Given the description of an element on the screen output the (x, y) to click on. 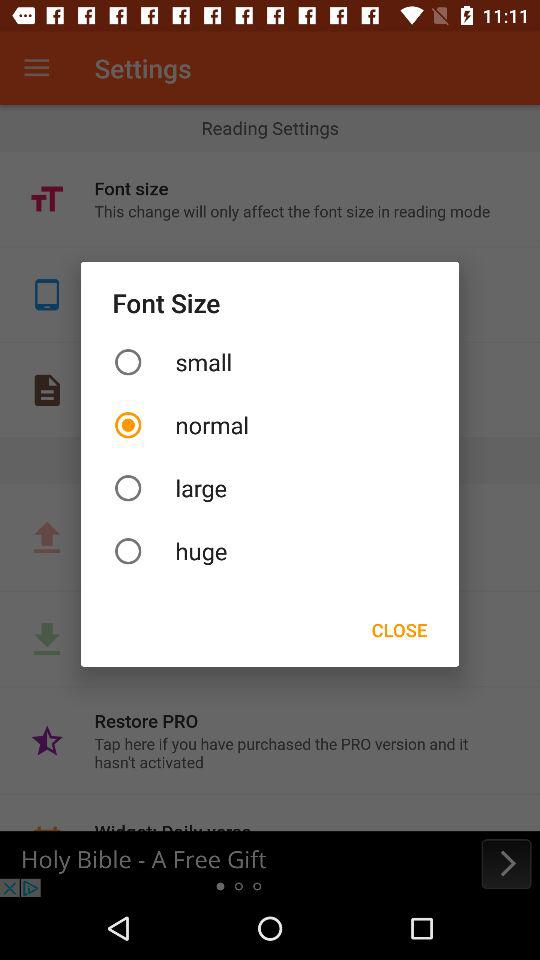
click item above the normal item (270, 361)
